Given the description of an element on the screen output the (x, y) to click on. 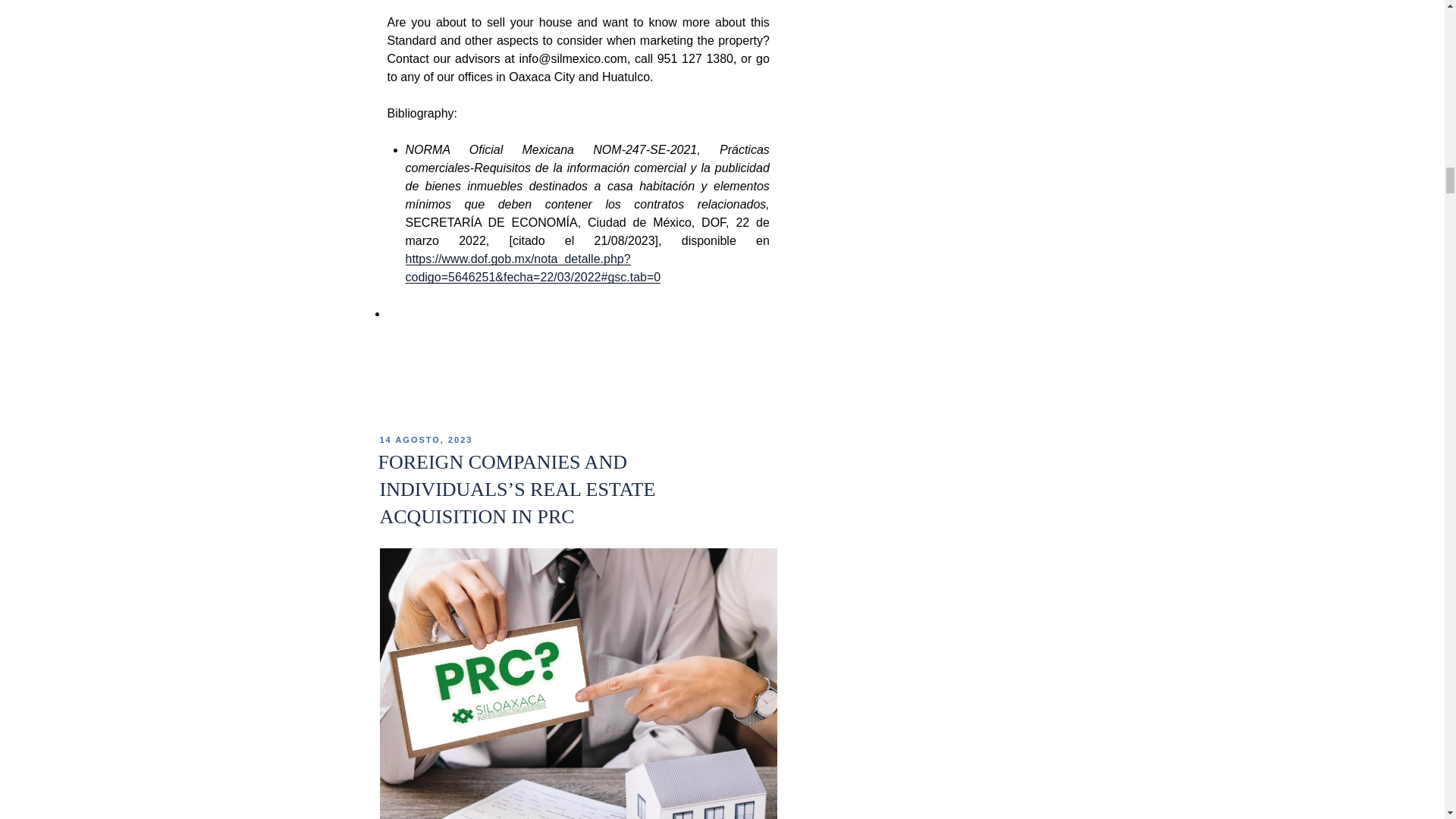
14 AGOSTO, 2023 (424, 439)
